Given the description of an element on the screen output the (x, y) to click on. 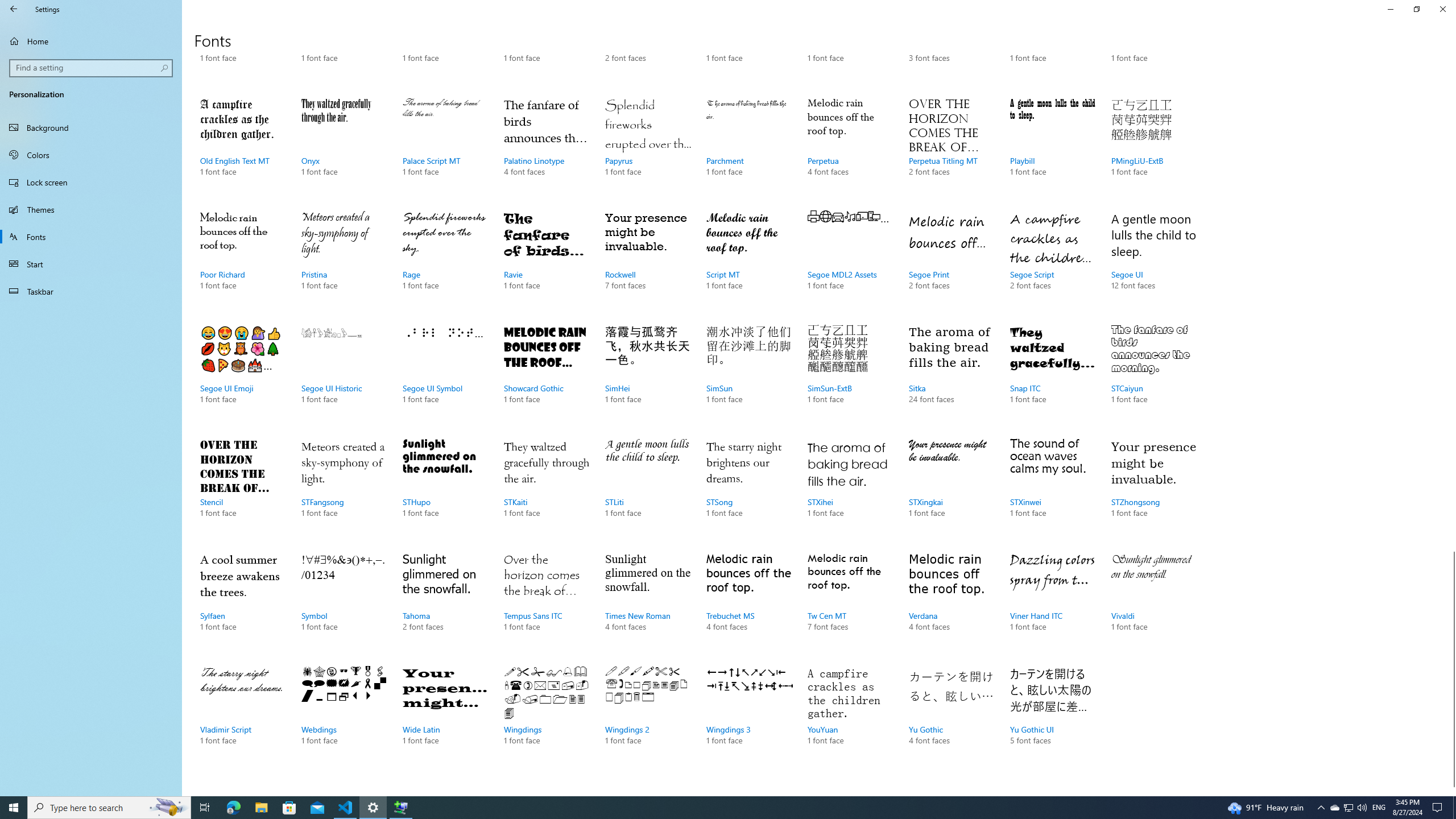
STXihei, 1 font face (850, 489)
Running applications (706, 807)
Vertical (1451, 425)
PMingLiU-ExtB, 1 font face (1153, 148)
STXinwei, 1 font face (1052, 489)
Segoe MDL2 Assets, 1 font face (850, 262)
Show desktop (1454, 807)
Vertical Small Increase (1451, 791)
Background (91, 126)
Segoe UI Emoji, 1 font face (243, 375)
STCaiyun, 1 font face (1153, 375)
Showcard Gothic, 1 font face (545, 375)
Yu Gothic UI, 5 font faces (1052, 716)
Times New Roman, 4 font faces (647, 603)
Close Settings (1442, 9)
